Given the description of an element on the screen output the (x, y) to click on. 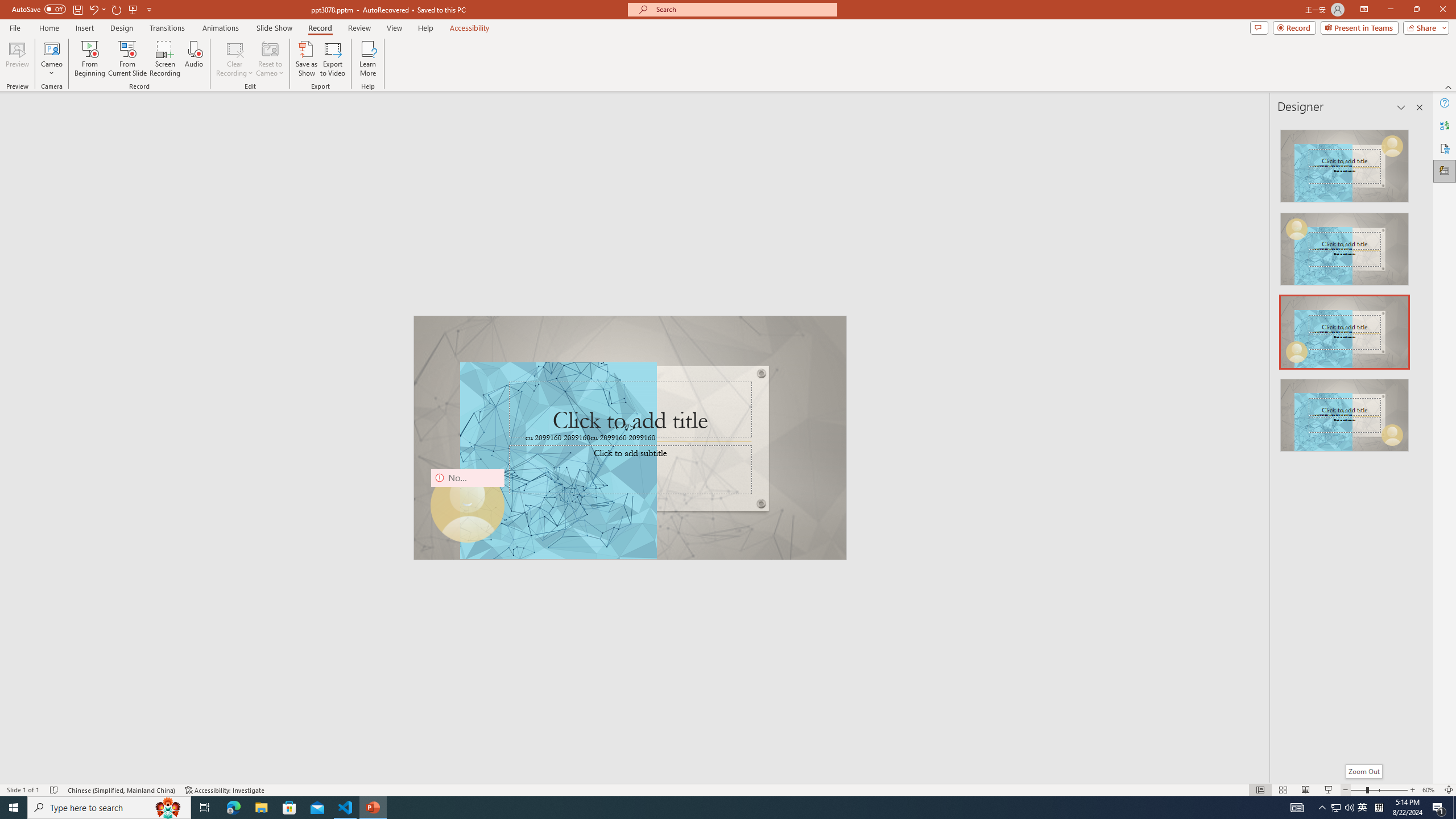
Audio (193, 58)
Normal (1260, 790)
TextBox 7 (624, 427)
Cameo (51, 48)
Title TextBox (630, 409)
Zoom Out (1358, 790)
Accessibility (1444, 147)
Export to Video (332, 58)
Reset to Cameo (269, 58)
Designer (1444, 170)
From Beginning... (89, 58)
Review (359, 28)
